Given the description of an element on the screen output the (x, y) to click on. 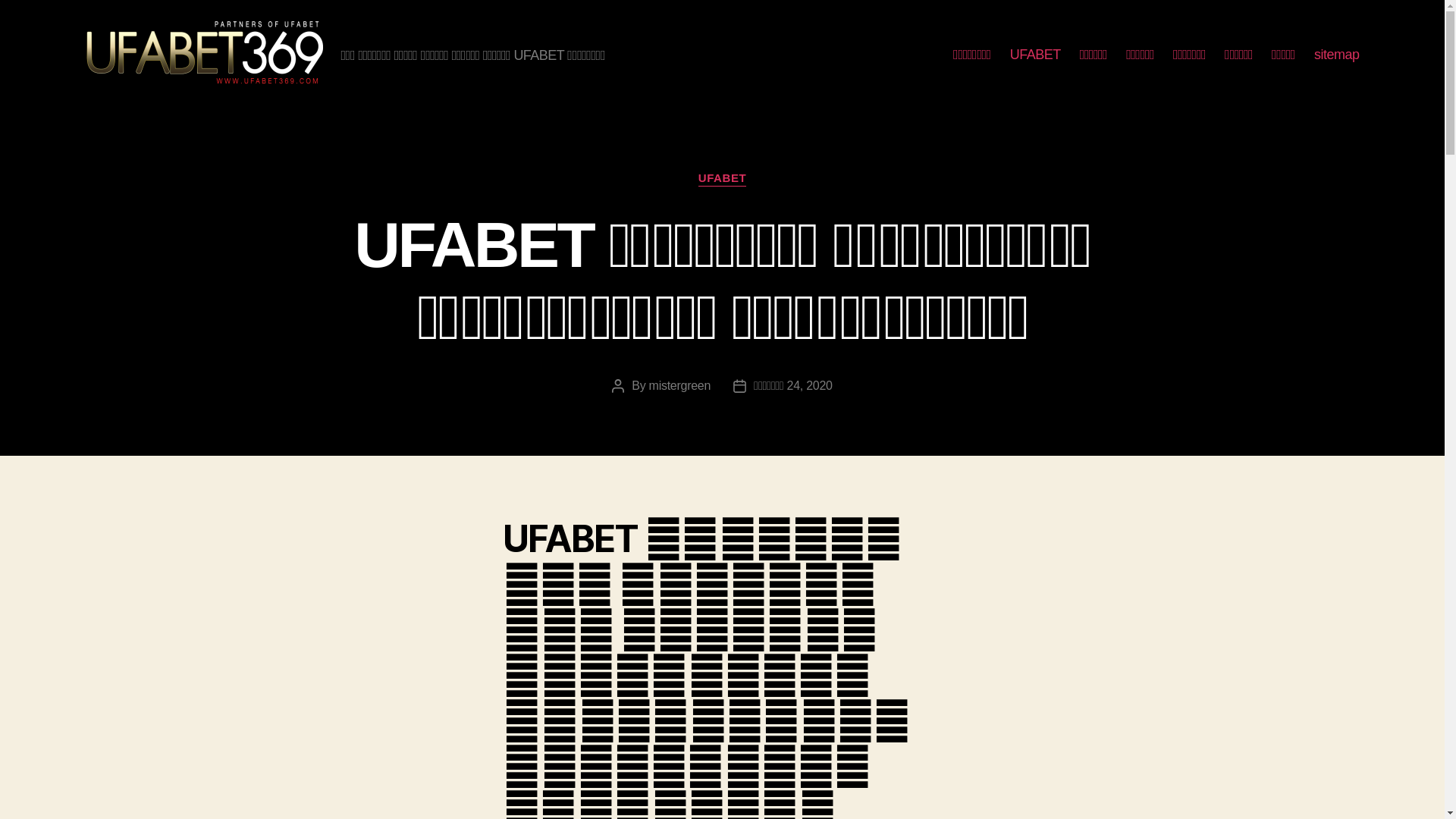
sitemap Element type: text (1336, 55)
mistergreen Element type: text (680, 385)
UFABET Element type: text (722, 178)
UFABET Element type: text (1035, 55)
